Given the description of an element on the screen output the (x, y) to click on. 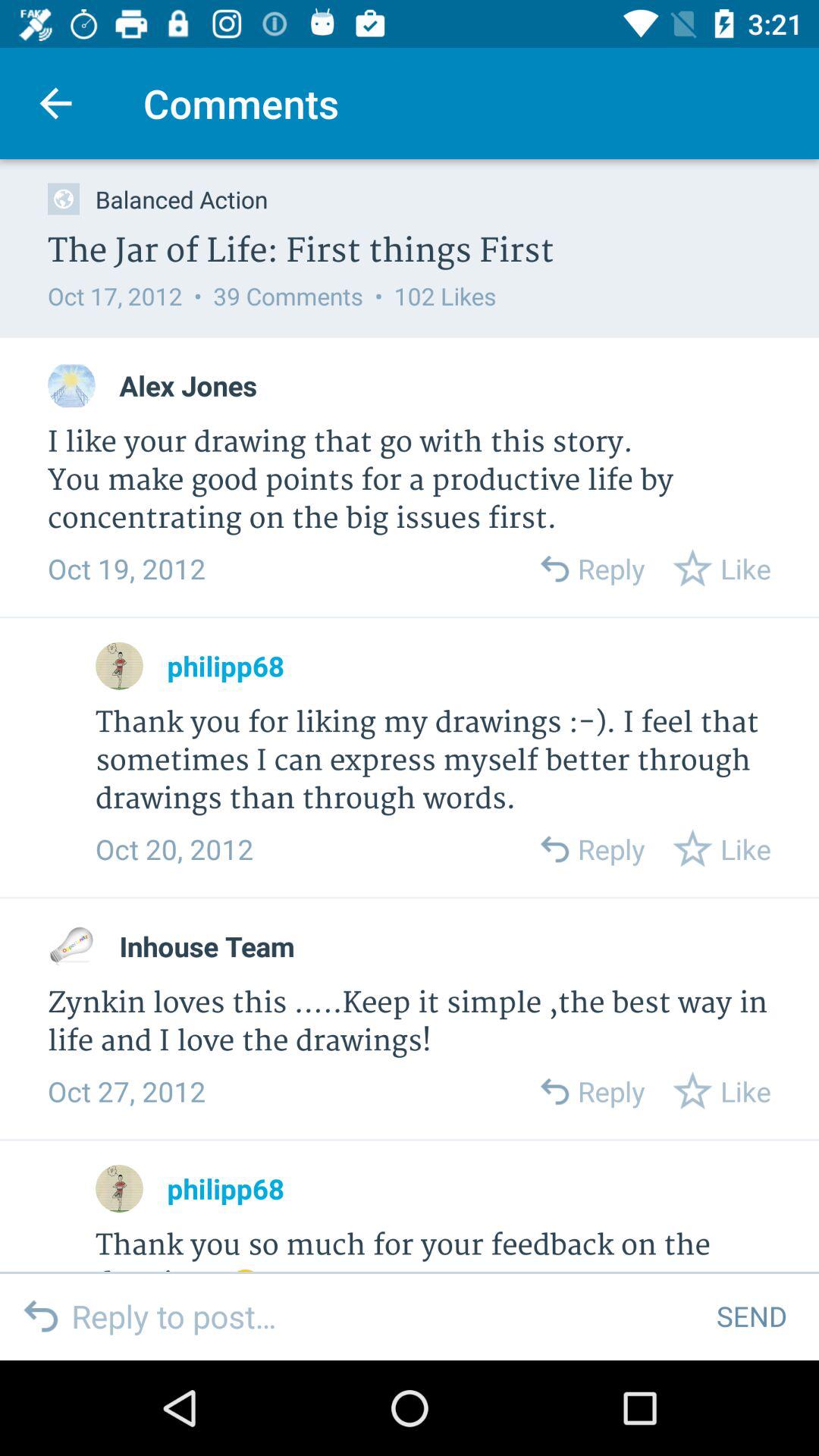
enter text (381, 1315)
